Given the description of an element on the screen output the (x, y) to click on. 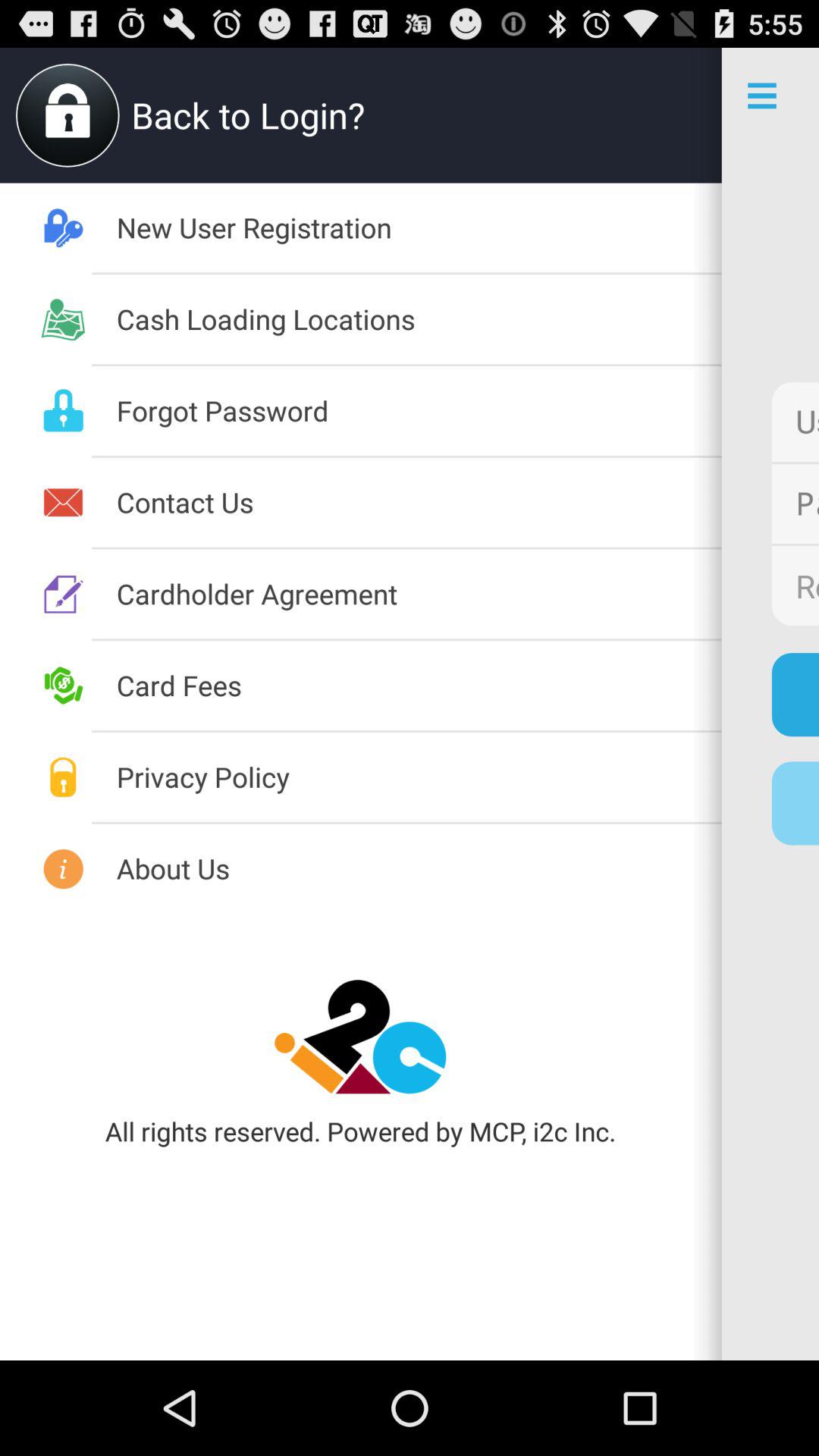
select the icon next to the log in item (418, 685)
